Given the description of an element on the screen output the (x, y) to click on. 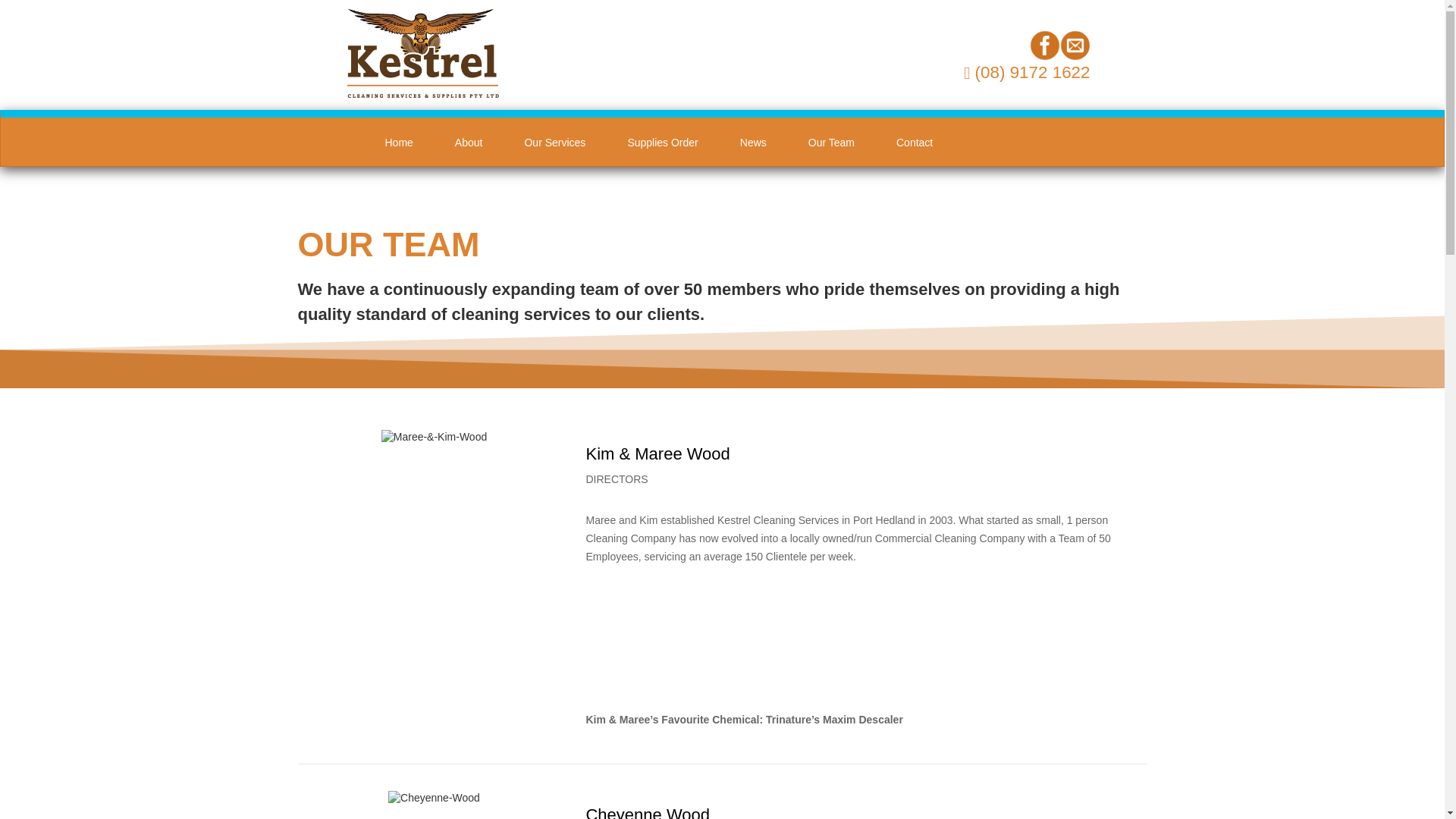
Home (397, 142)
Supplies Order (662, 142)
Our Services (554, 142)
About (468, 142)
Contact (914, 142)
Our Team (831, 142)
News (753, 142)
Cheyenne-Wood (434, 798)
